Given the description of an element on the screen output the (x, y) to click on. 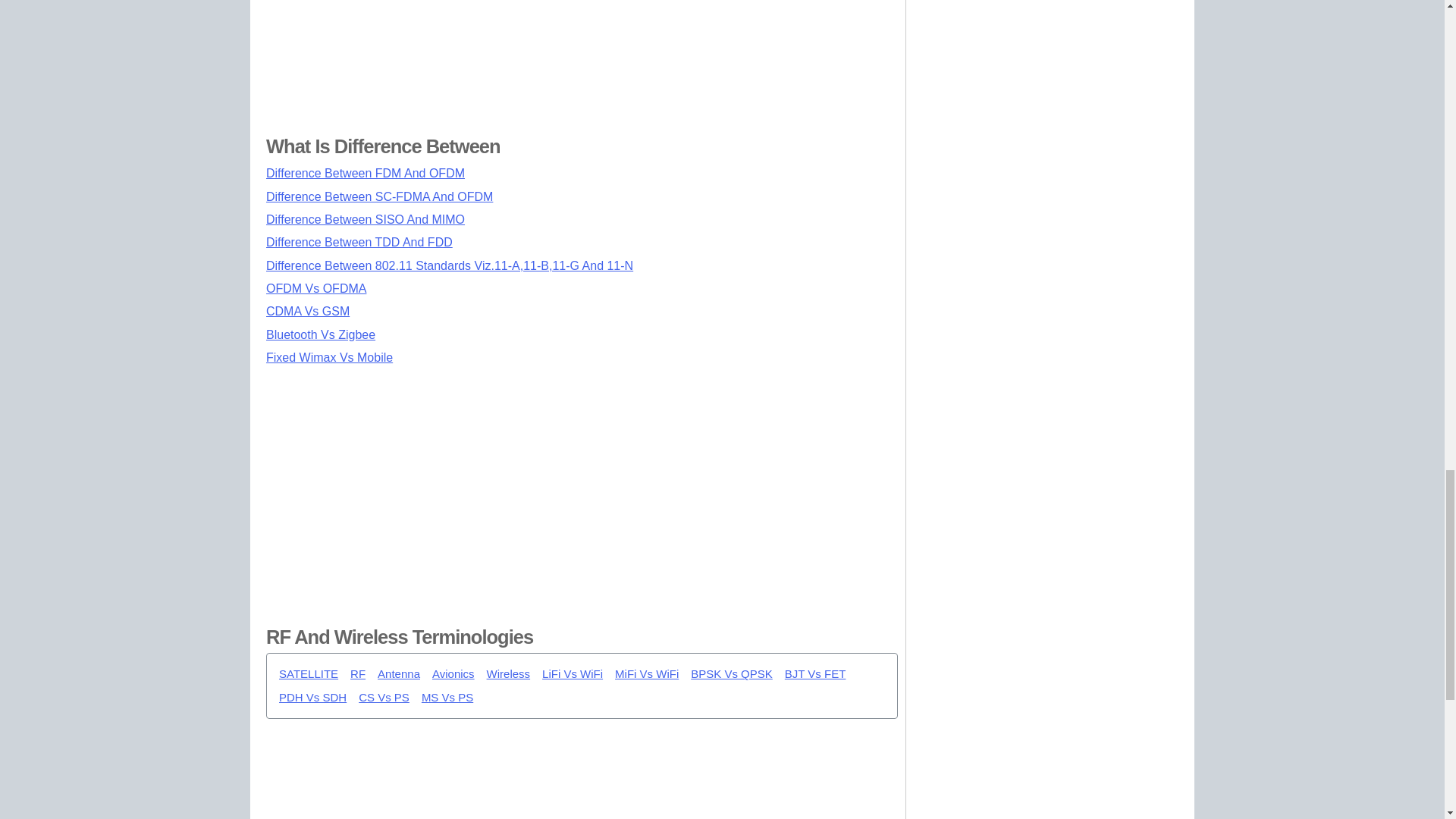
MiFi Vs WiFi (646, 674)
Difference between SC-FDMA and OFDM (379, 196)
OFDM versus OFDMA with frame structure (316, 287)
MS Vs PS (447, 697)
BPSK Vs QPSK (731, 674)
Difference between TDD and FDD (359, 241)
SATELLITE (308, 674)
CDMA versus GSM Basic Differences (307, 310)
Avionics (453, 674)
Wireless (508, 674)
PDH Vs SDH (312, 697)
